Given the description of an element on the screen output the (x, y) to click on. 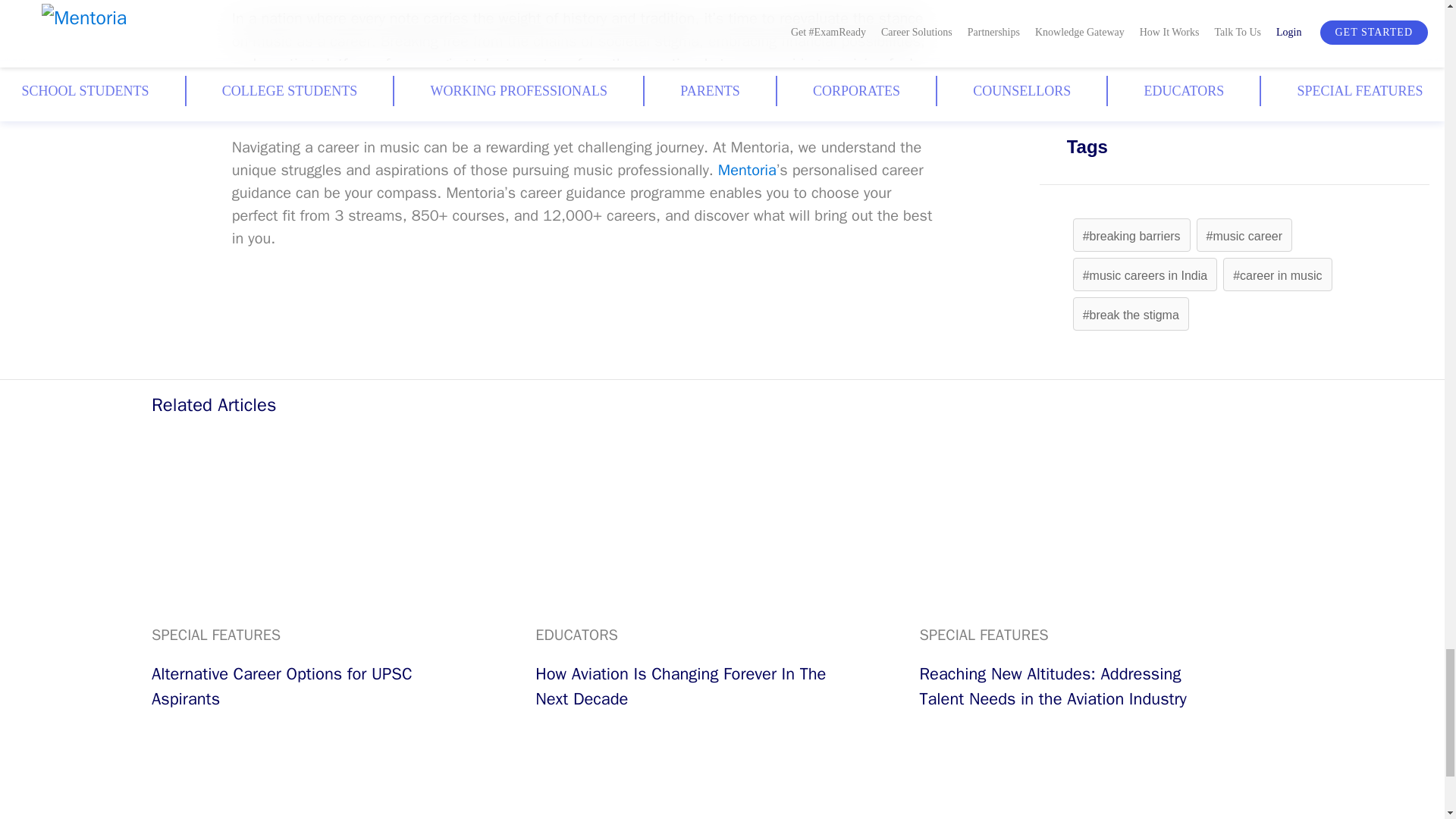
career in music (1277, 275)
music career (1244, 236)
break the stigma (1131, 314)
breaking barriers (1131, 236)
music careers in India (1145, 275)
